Given the description of an element on the screen output the (x, y) to click on. 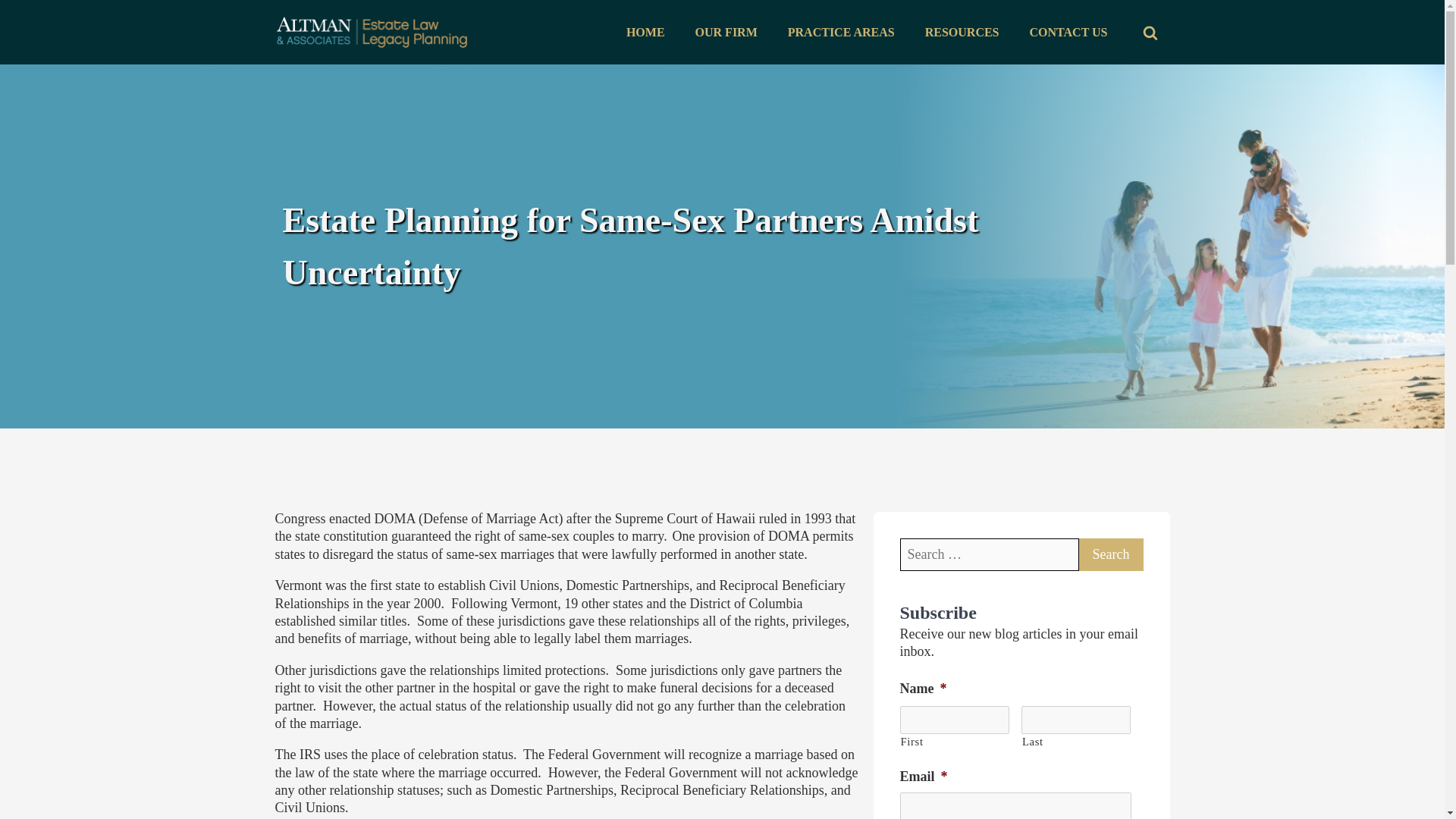
OUR FIRM (726, 32)
CONTACT US (1068, 32)
HOME (645, 32)
Search (1110, 554)
PRACTICE AREAS (841, 32)
RESOURCES (962, 32)
Search (1110, 554)
